Given the description of an element on the screen output the (x, y) to click on. 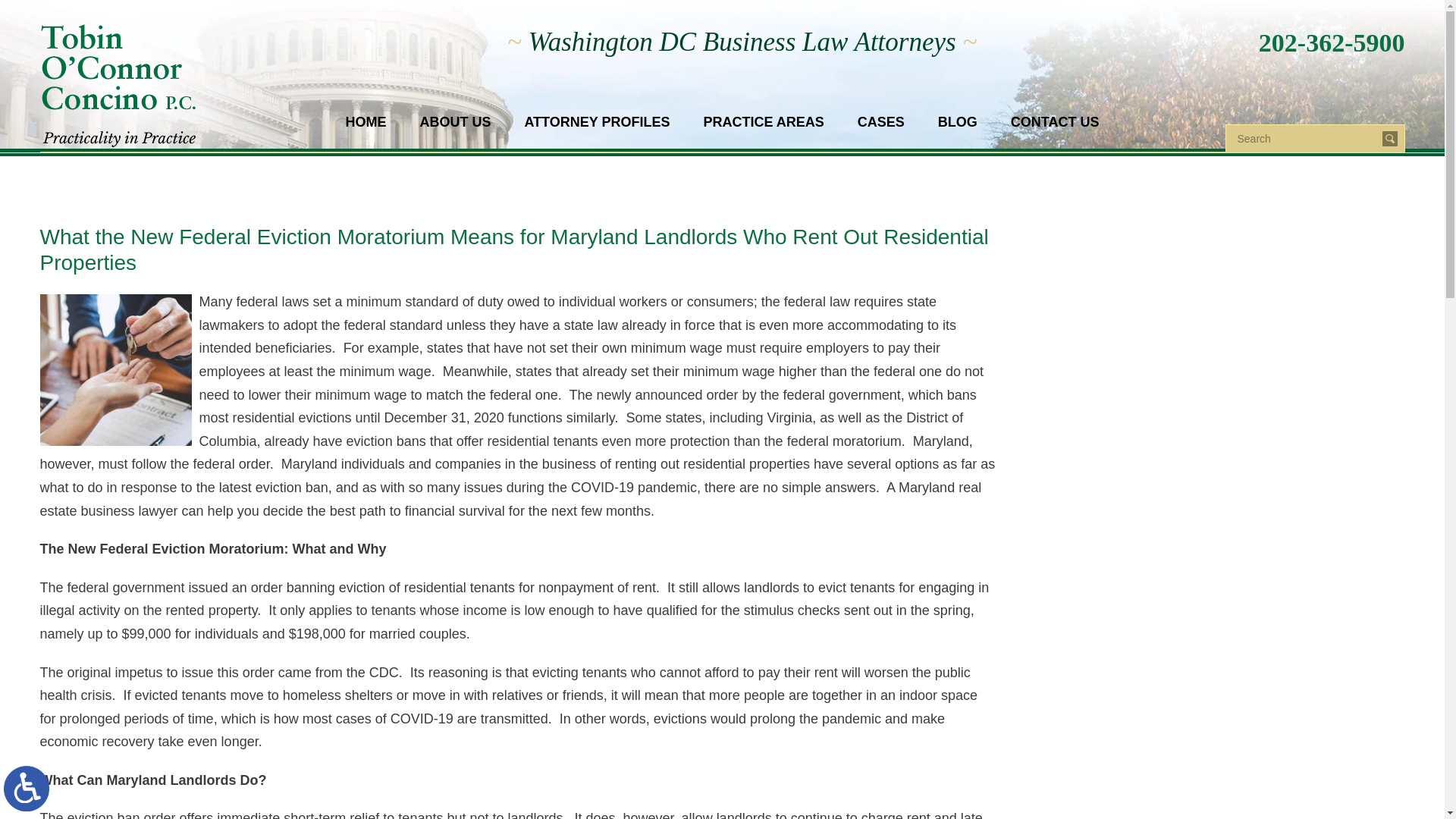
ATTORNEY PROFILES (595, 133)
BLOG (957, 133)
CONTACT US (1055, 133)
202-362-5900 (1332, 43)
Submit (1388, 137)
Submit (1388, 137)
CASES (881, 133)
ABOUT US (454, 133)
Search (1304, 138)
HOME (366, 133)
Washington DC Business Lawyer (132, 85)
PRACTICE AREAS (762, 133)
